Given the description of an element on the screen output the (x, y) to click on. 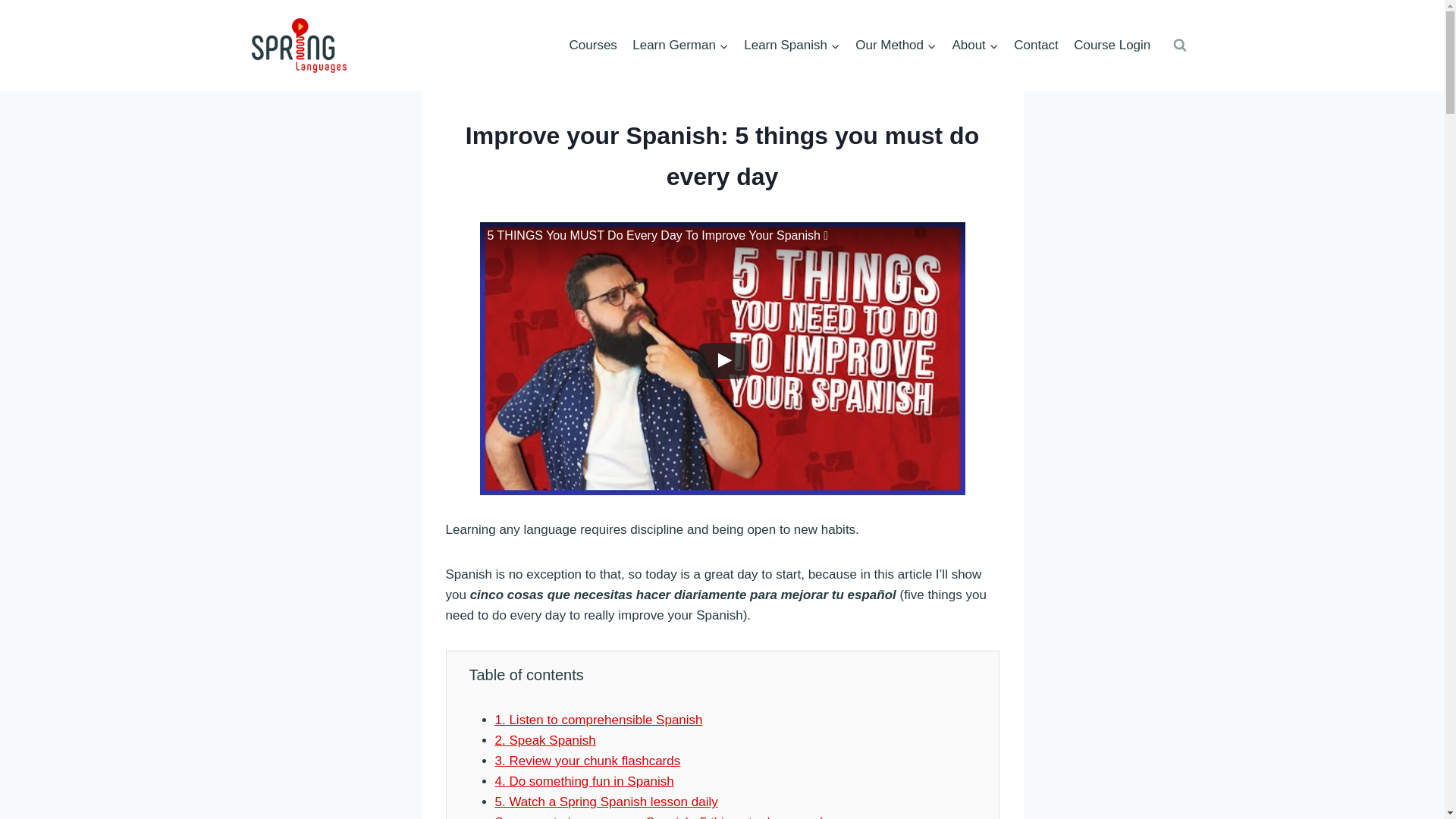
2. Speak Spanish (545, 740)
Summary to improve your Spanish: 5 things to do every day (665, 816)
1. Listen to comprehensible Spanish (598, 719)
Contact (1035, 45)
Learn German (680, 45)
3. Review your chunk flashcards (587, 760)
Learn Spanish (791, 45)
5. Watch a Spring Spanish lesson daily (606, 801)
Our Method (895, 45)
4. Do something fun in Spanish (583, 780)
About (974, 45)
Courses (592, 45)
Course Login (1111, 45)
